Given the description of an element on the screen output the (x, y) to click on. 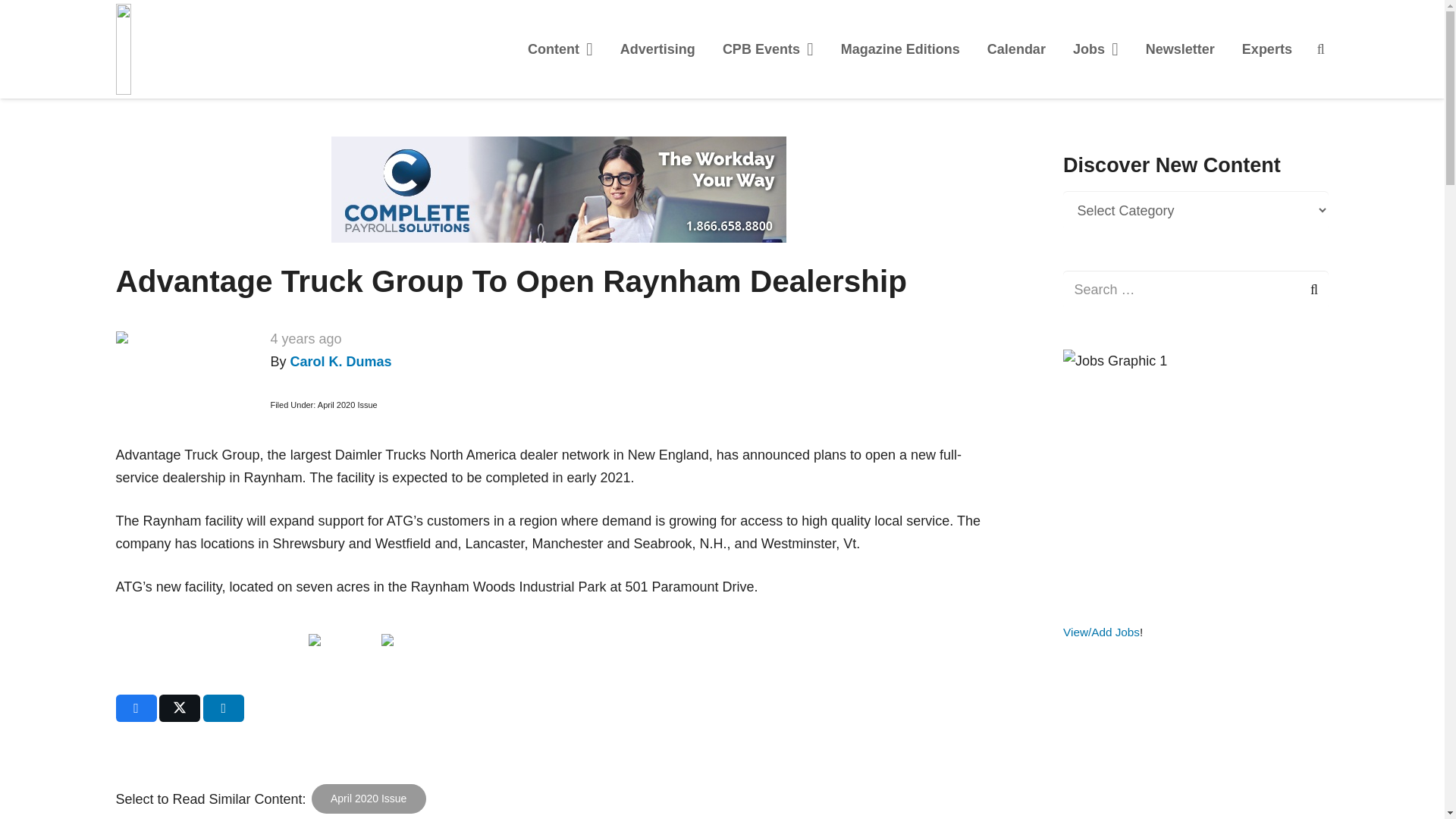
Content (560, 48)
Calendar (1016, 48)
Newsletter (1180, 48)
CPB Events (768, 48)
Experts (1267, 48)
Advertising (658, 48)
Magazine Editions (900, 48)
Jobs (1095, 48)
Tweet this (179, 707)
Share this (135, 707)
